Given the description of an element on the screen output the (x, y) to click on. 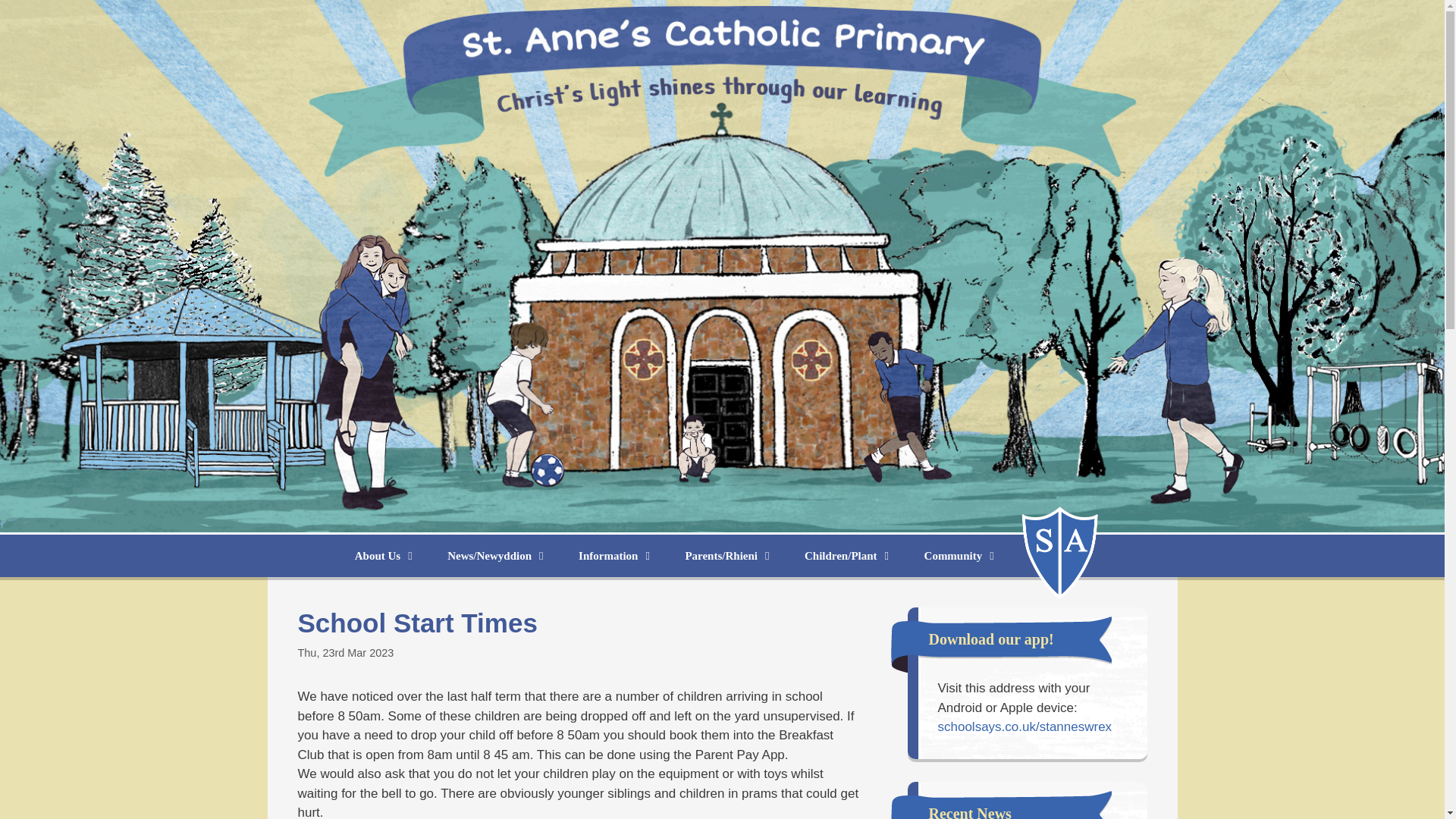
Information (616, 555)
About Us (385, 555)
